Given the description of an element on the screen output the (x, y) to click on. 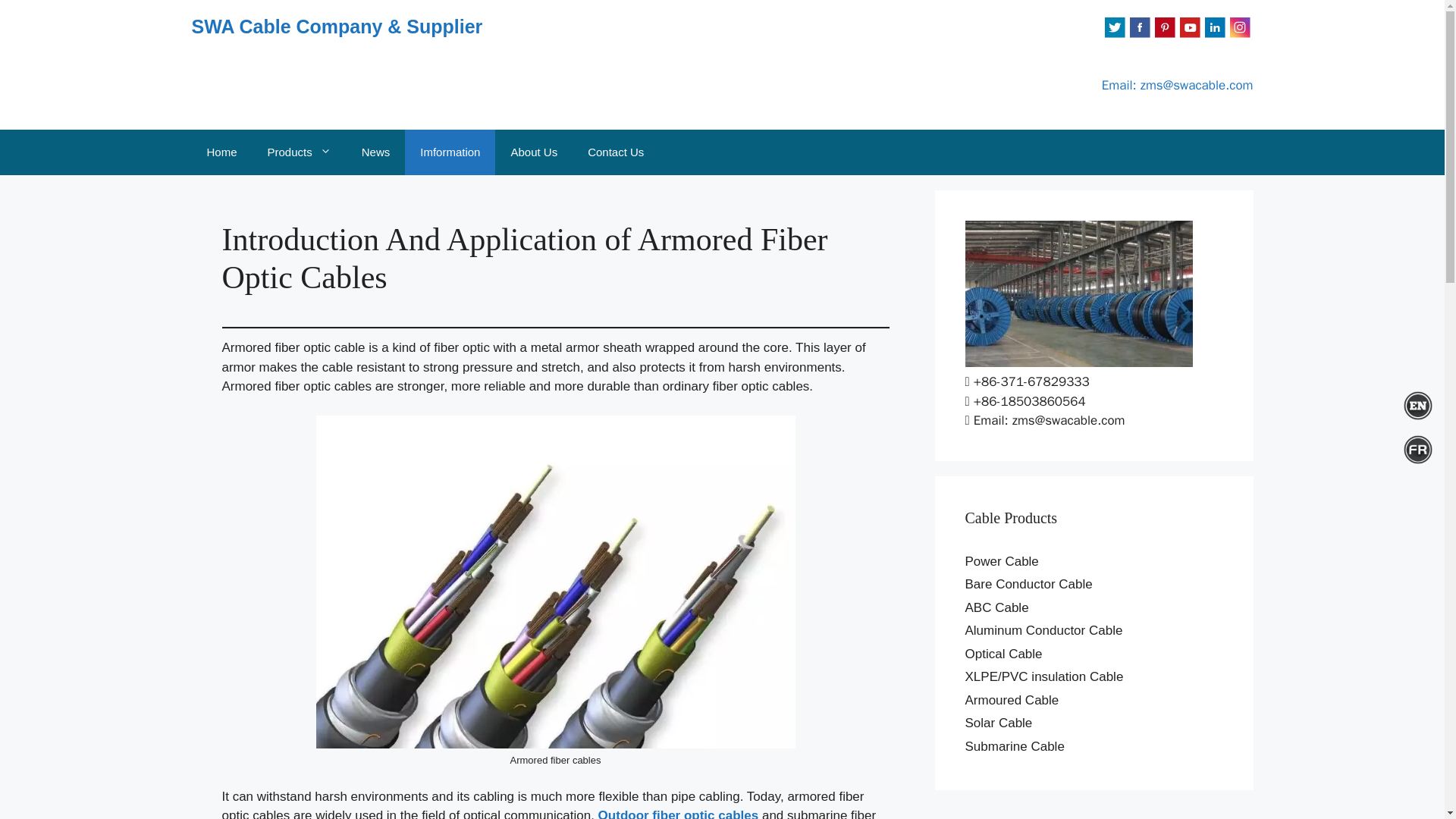
About Us (533, 151)
Visit Us On Facebook (1138, 35)
Imformation (449, 151)
Home (220, 151)
News (376, 151)
Products (298, 151)
Visit Us On Pinterest (1163, 35)
Visit Us On Youtube (1189, 35)
Contact Us (615, 151)
Visit Us On Instagram (1239, 35)
Visit Us On Linkedin (1214, 35)
Visit Us On Twitter (1114, 35)
